Given the description of an element on the screen output the (x, y) to click on. 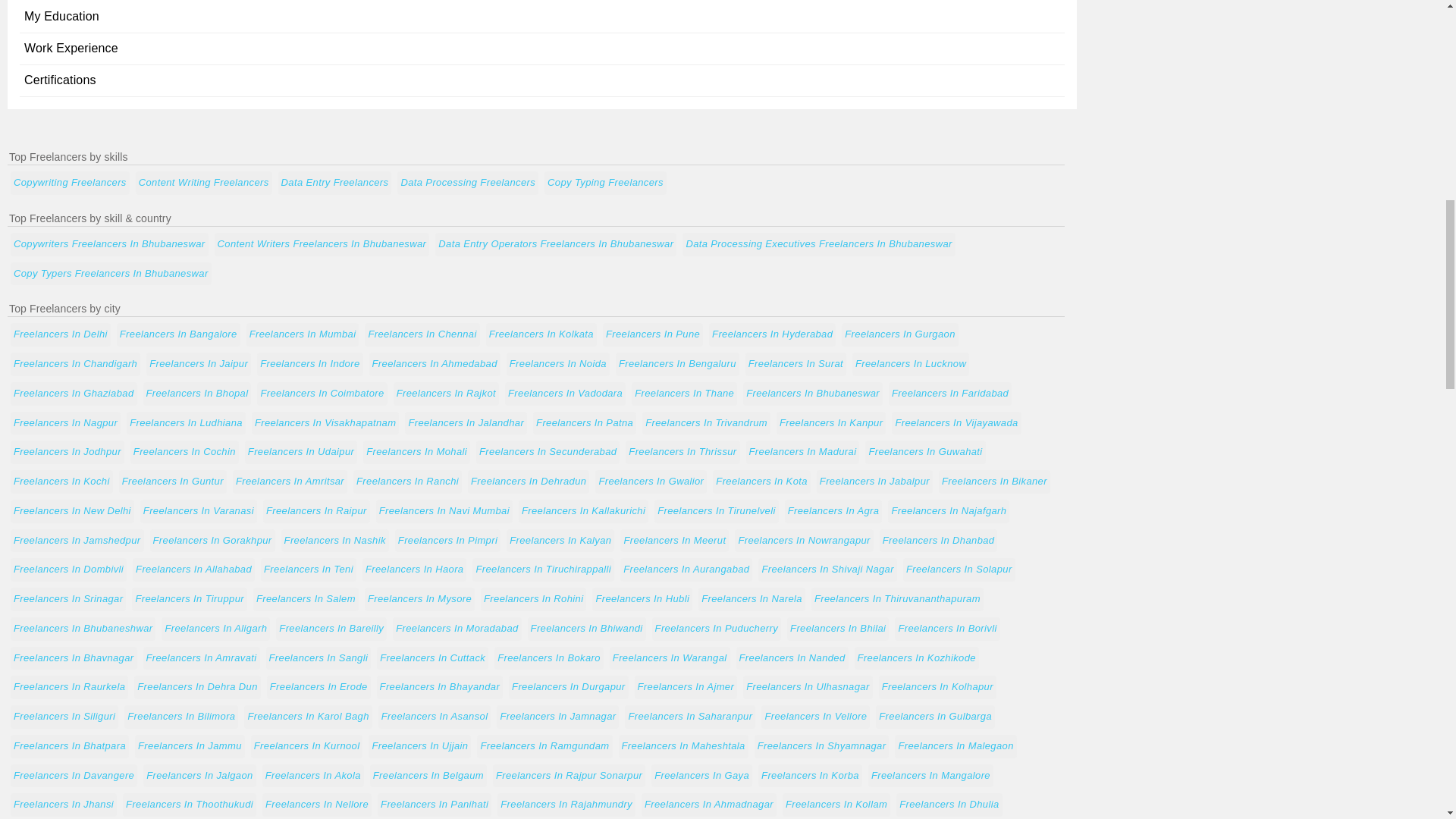
Data Entry Freelancers (334, 182)
Copywriting Freelancers (69, 182)
Content Writing Freelancers (203, 182)
Data Processing Freelancers (467, 182)
